Given the description of an element on the screen output the (x, y) to click on. 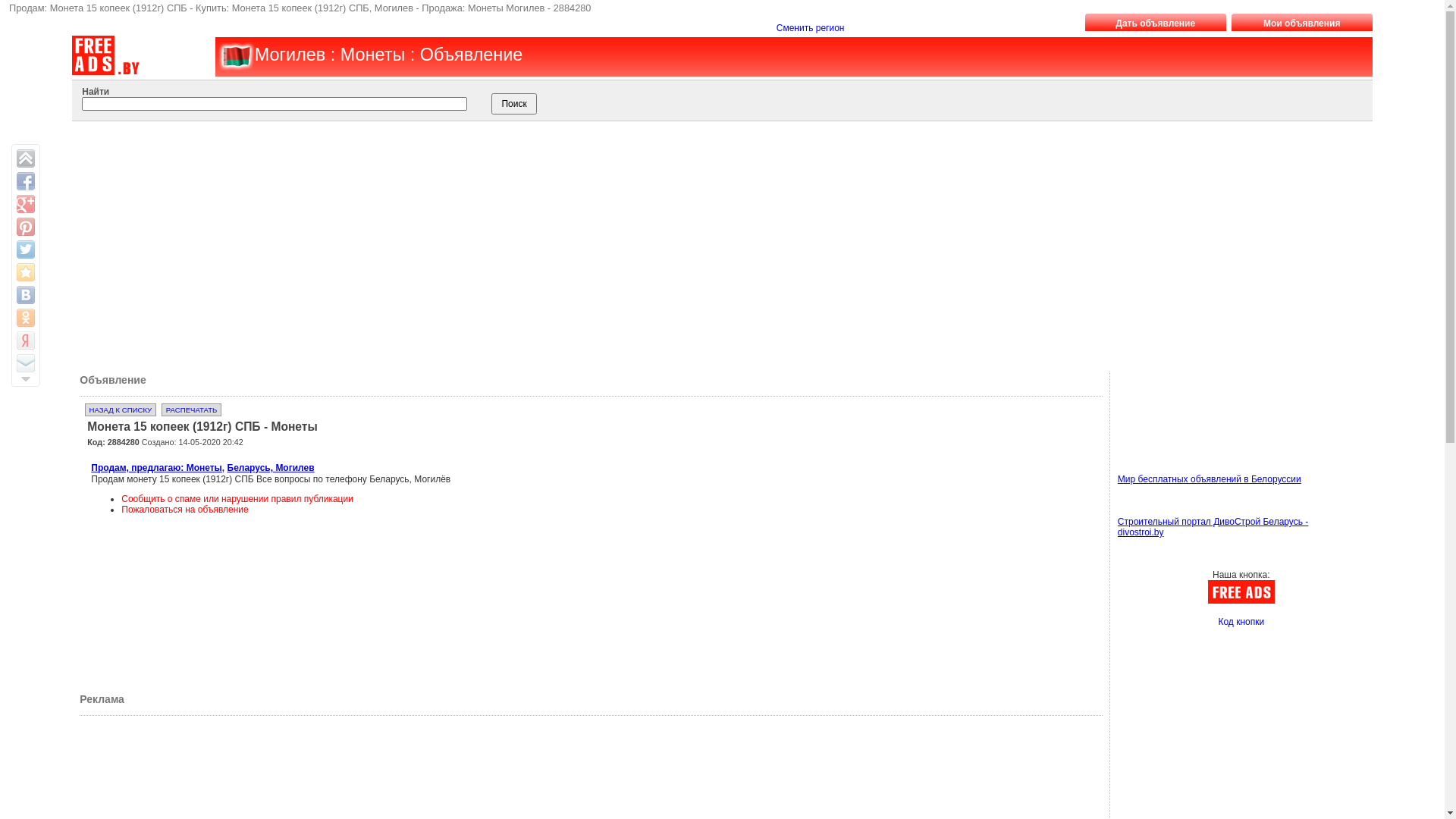
Advertisement Element type: hover (705, 242)
Share on Twitter Element type: hover (25, 249)
Share to Odnoklassniki.ru Element type: hover (25, 317)
Back on top Element type: hover (25, 158)
Share on Google+ Element type: hover (25, 203)
Save to Browser Favorites Element type: hover (25, 272)
freeads.by Element type: hover (234, 55)
Advertisement Element type: hover (701, 561)
Save to Yandex Bookmarks Element type: hover (25, 340)
Share on VK Element type: hover (25, 294)
Pin It Element type: hover (25, 226)
Advertisement Element type: hover (1185, 405)
Email this to a friend Element type: hover (25, 363)
Share on Facebook Element type: hover (25, 181)
